Given the description of an element on the screen output the (x, y) to click on. 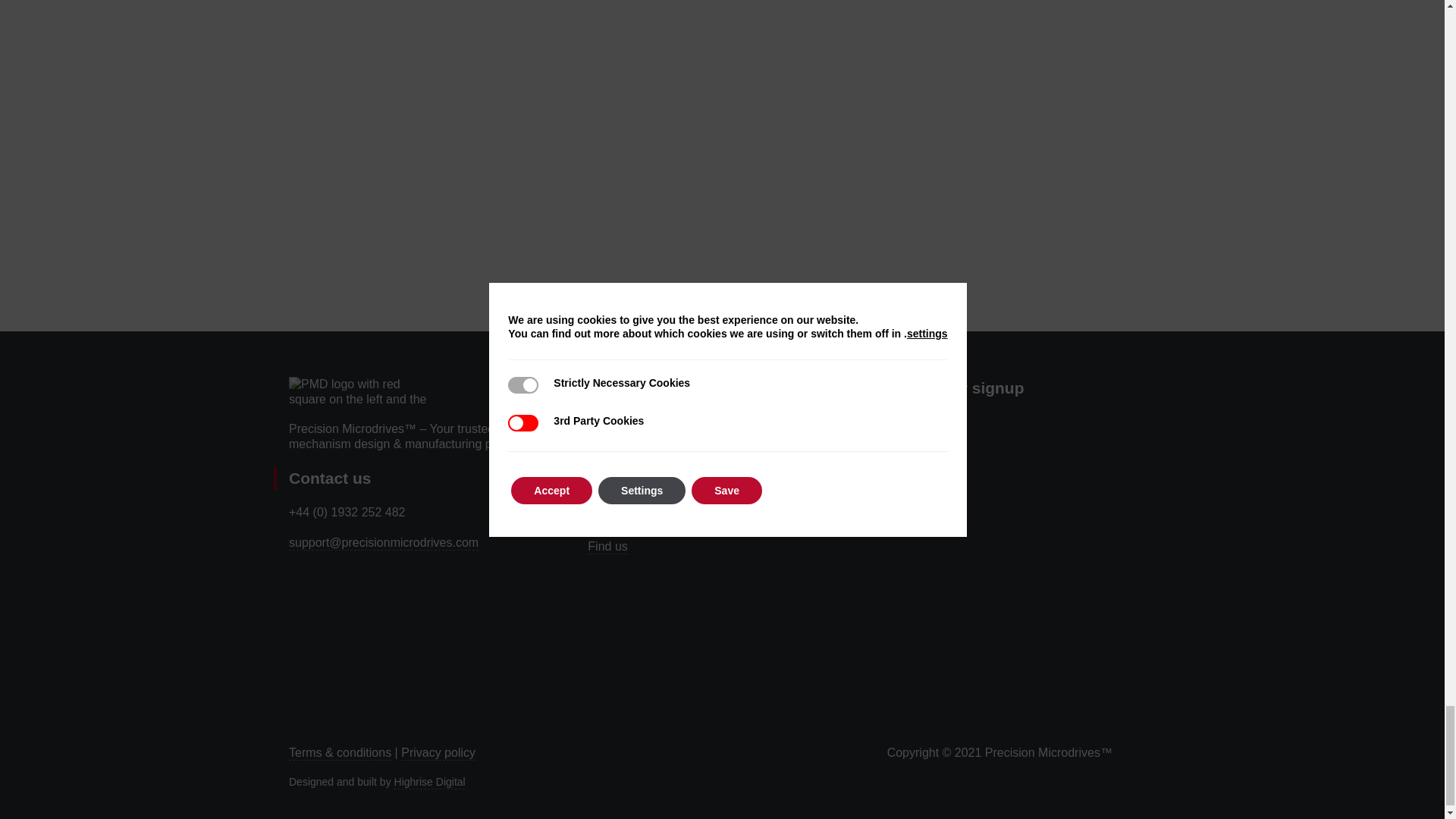
Form 1 (1021, 564)
